Given the description of an element on the screen output the (x, y) to click on. 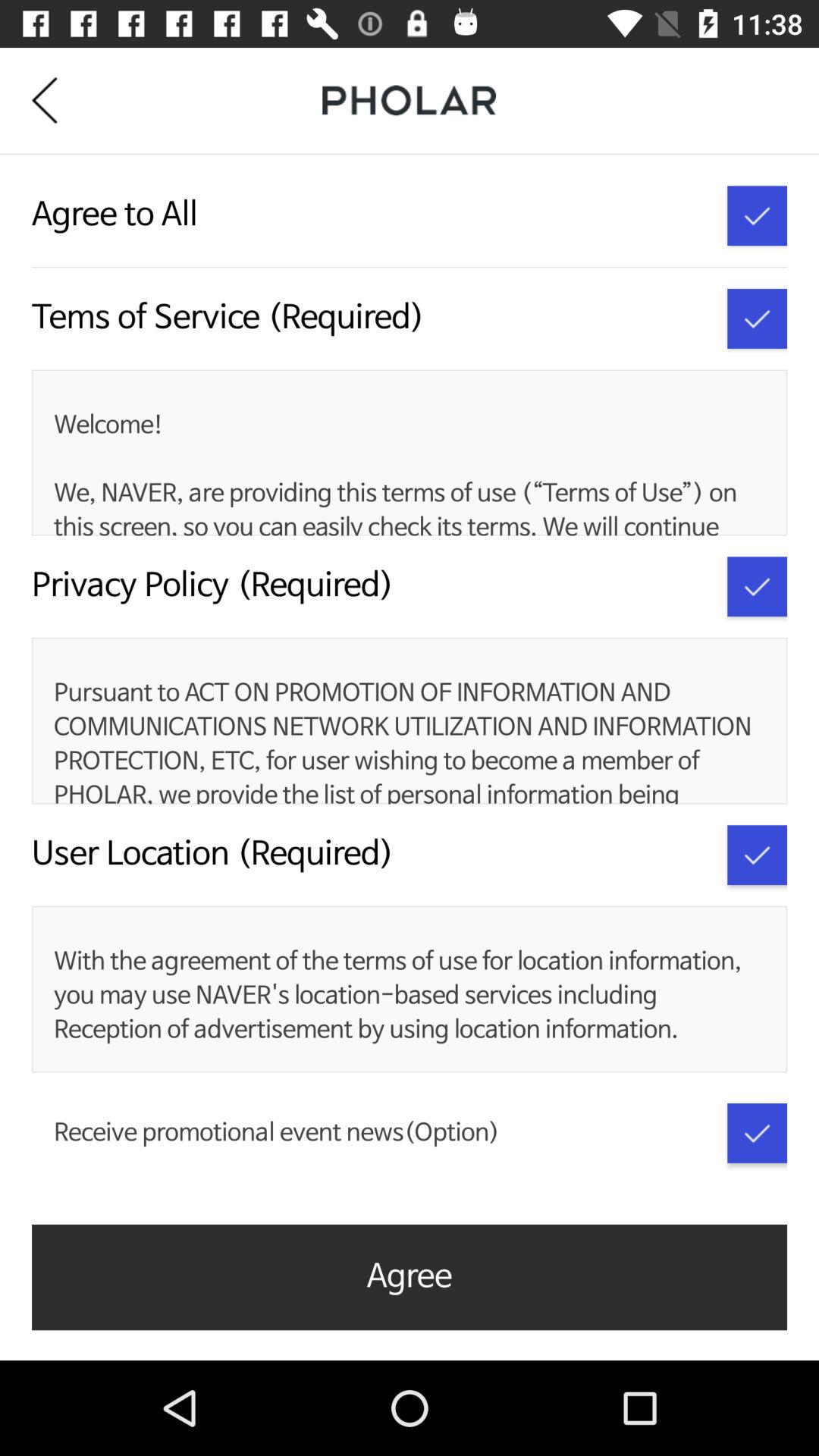
select agree (757, 586)
